Given the description of an element on the screen output the (x, y) to click on. 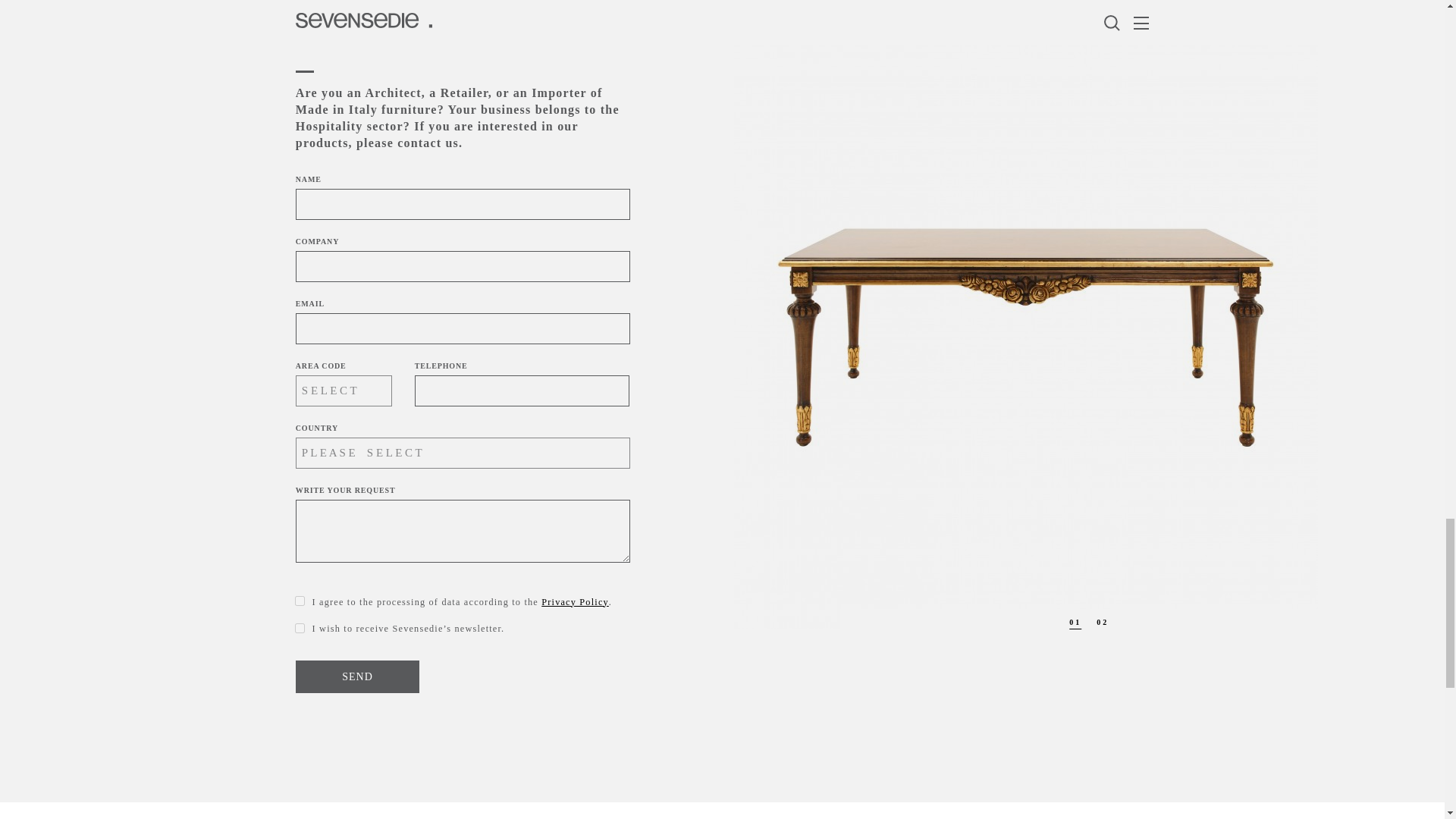
on (299, 628)
Privacy Policy (574, 602)
1 (299, 601)
